Given the description of an element on the screen output the (x, y) to click on. 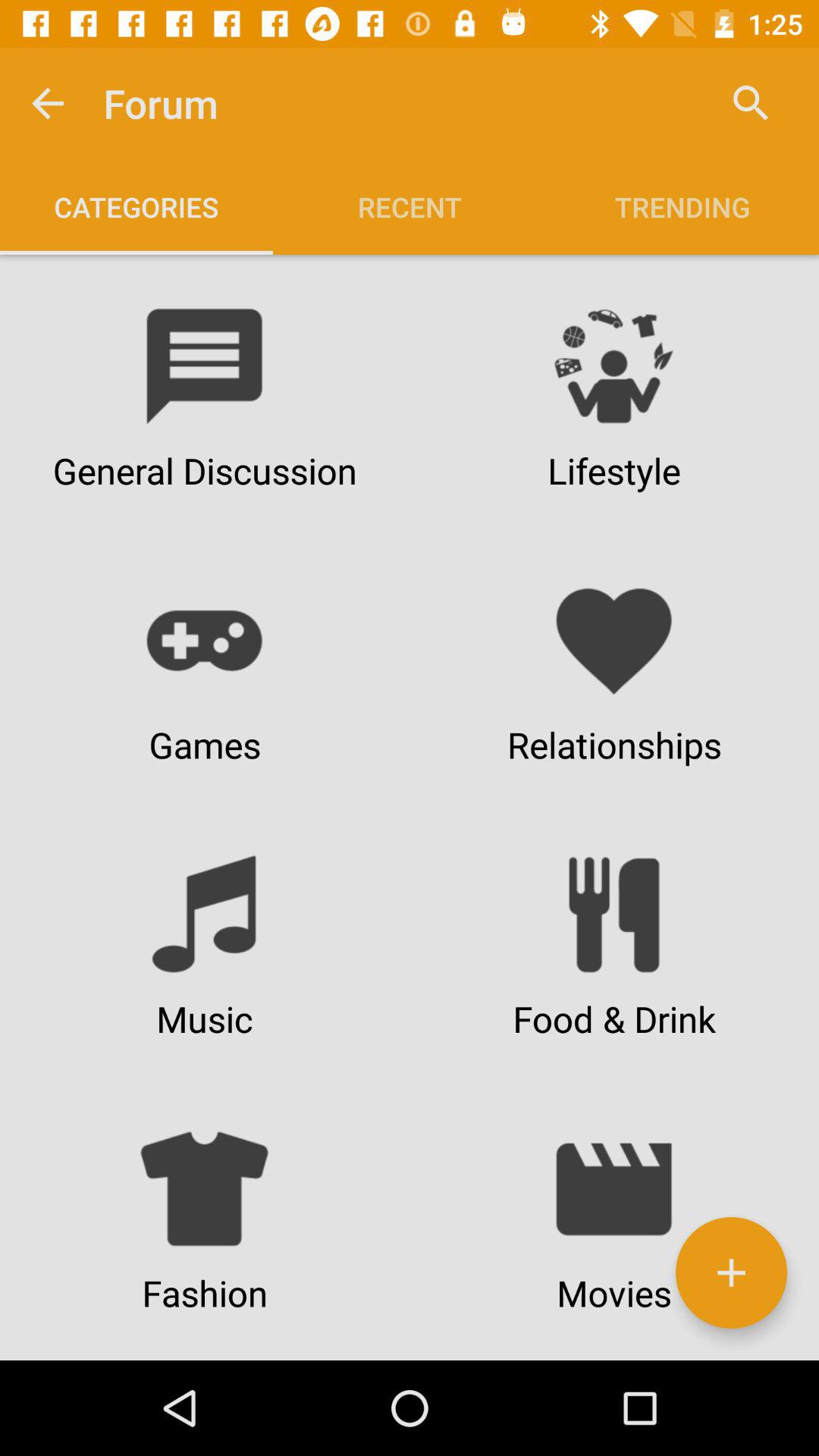
turn on the icon to the left of the forum item (47, 103)
